Given the description of an element on the screen output the (x, y) to click on. 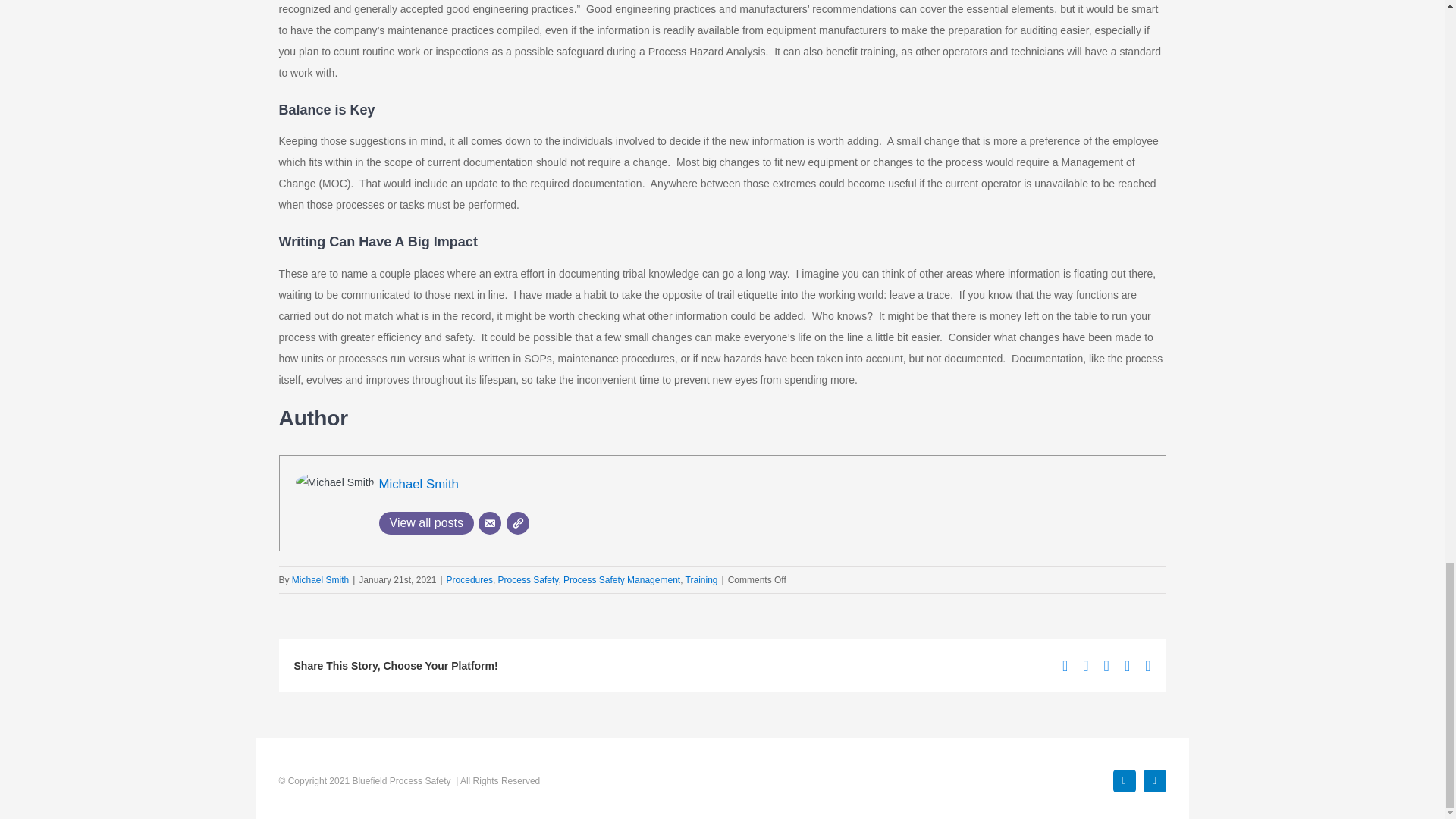
Michael Smith (418, 483)
Posts by Michael Smith (320, 579)
View all posts (426, 522)
